Given the description of an element on the screen output the (x, y) to click on. 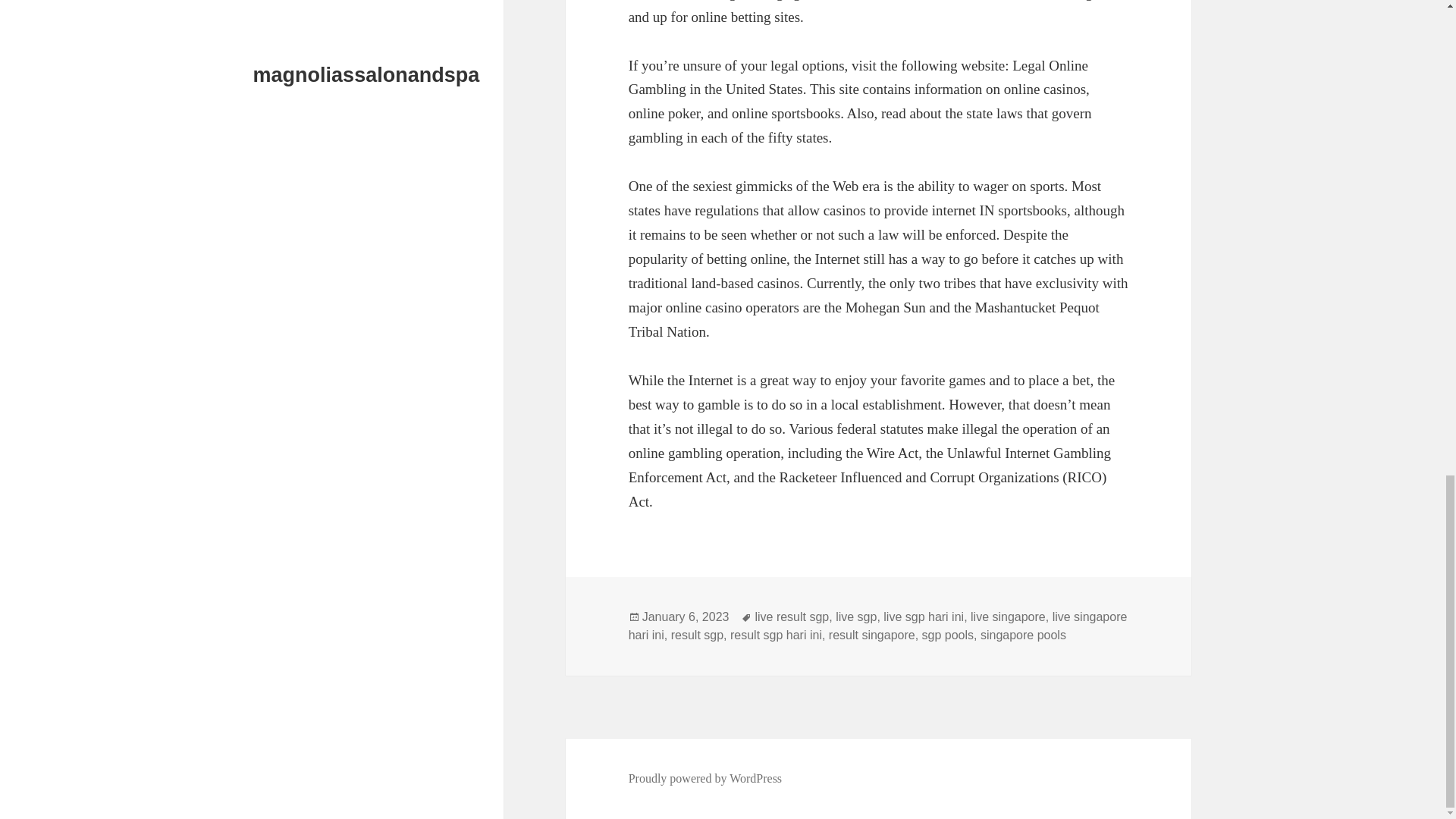
live sgp hari ini (923, 617)
live singapore (1008, 617)
Proudly powered by WordPress (704, 778)
result sgp hari ini (776, 635)
live sgp (855, 617)
result singapore (871, 635)
singapore pools (1022, 635)
result sgp (697, 635)
January 6, 2023 (685, 617)
live singapore hari ini (877, 626)
